Given the description of an element on the screen output the (x, y) to click on. 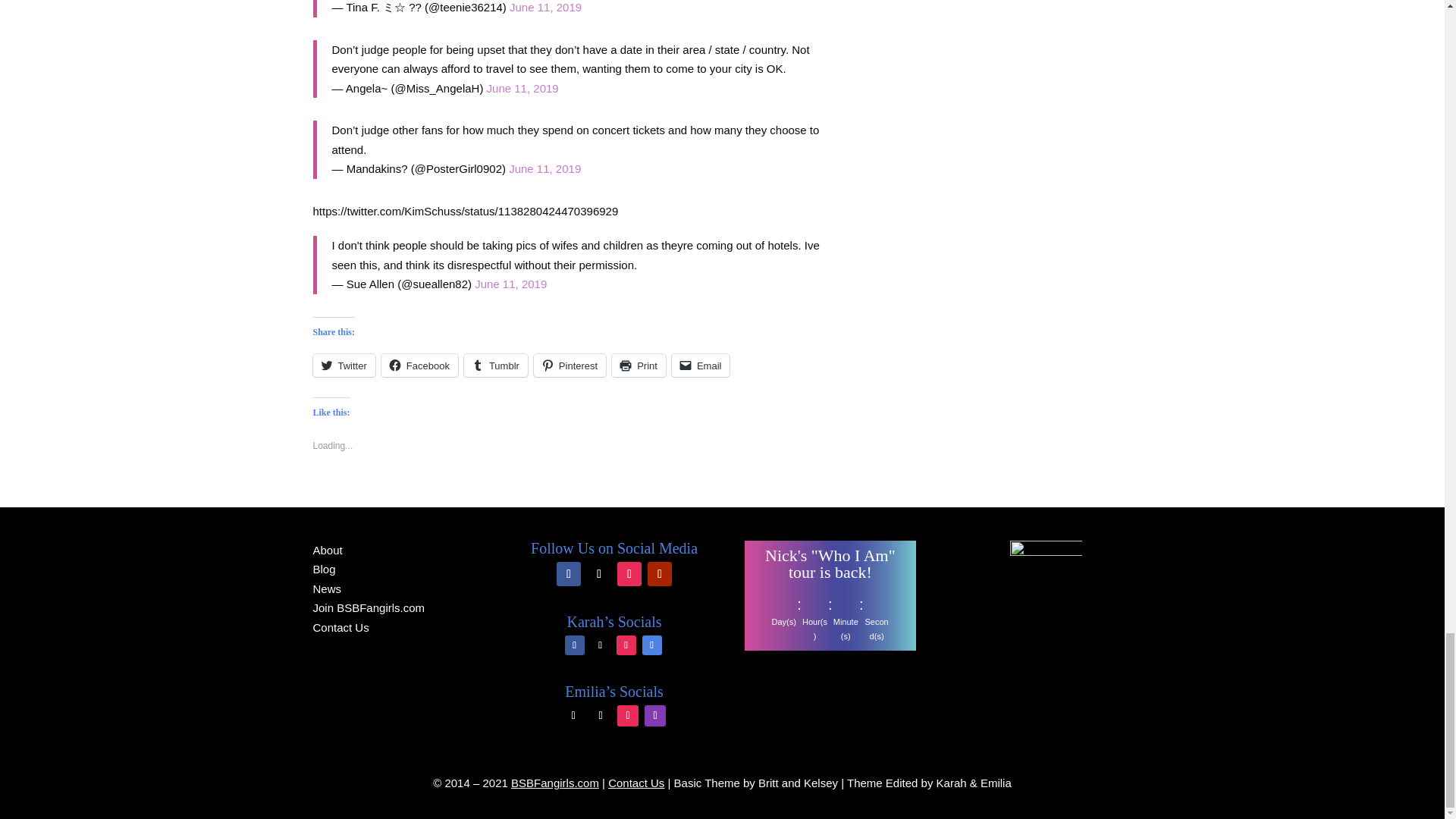
Click to print (638, 364)
June 11, 2019 (544, 6)
Click to share on Pinterest (569, 364)
Click to email a link to a friend (700, 364)
Follow on Facebook (568, 573)
Click to share on Facebook (419, 364)
Click to share on Twitter (343, 364)
Follow on X (598, 573)
June 11, 2019 (522, 88)
Follow on Instagram (629, 573)
Click to share on Tumblr (495, 364)
Follow on Youtube (659, 573)
Follow on Facebook (574, 645)
